Given the description of an element on the screen output the (x, y) to click on. 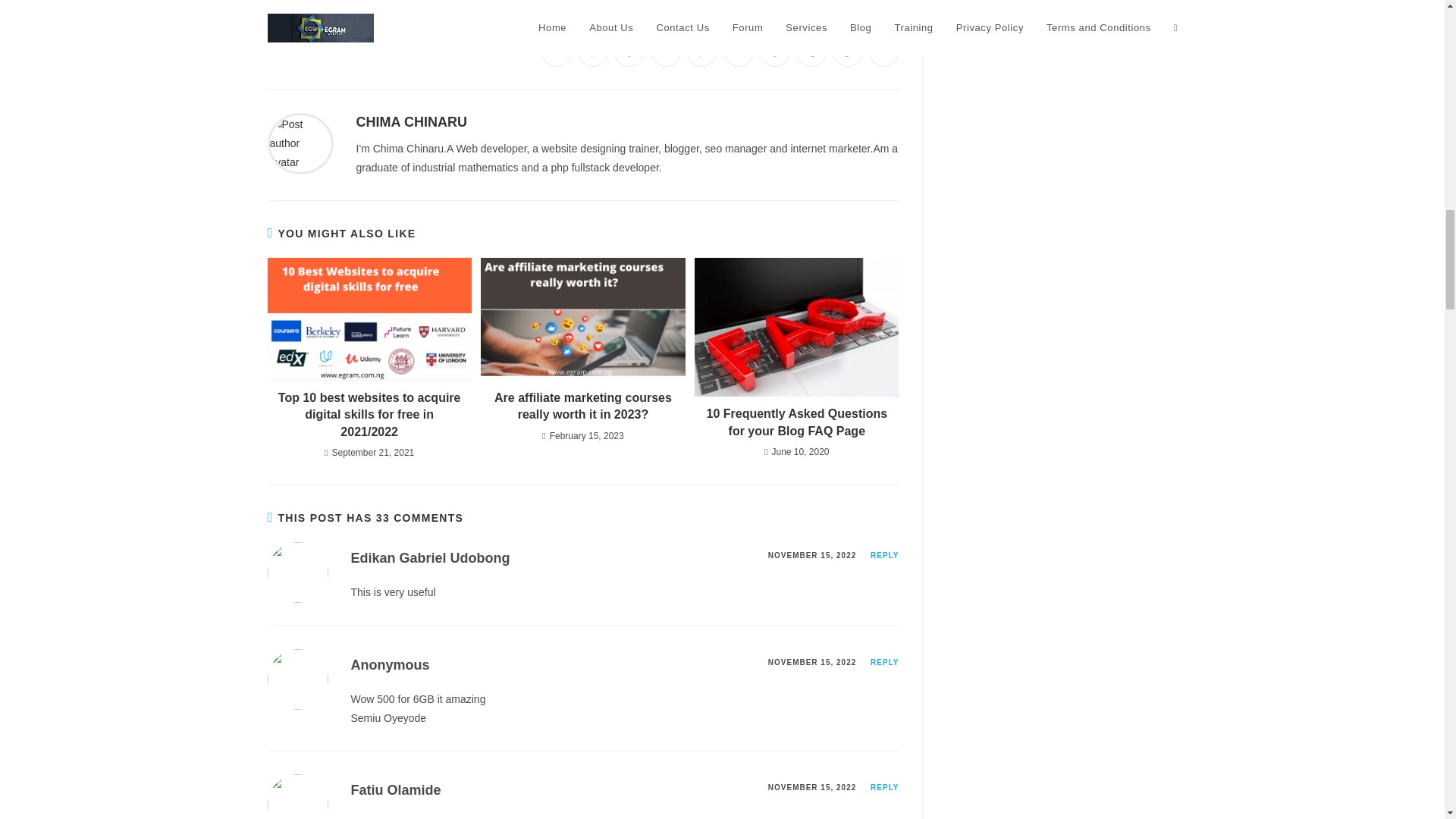
Opens in a new window (738, 51)
Opens in a new window (556, 51)
Opens in a new window (847, 51)
Opens in a new window (593, 51)
Opens in a new window (665, 51)
Visit author page (411, 121)
Opens in a new window (775, 51)
Opens in a new window (629, 51)
Visit author page (299, 142)
Opens in a new window (811, 51)
